Given the description of an element on the screen output the (x, y) to click on. 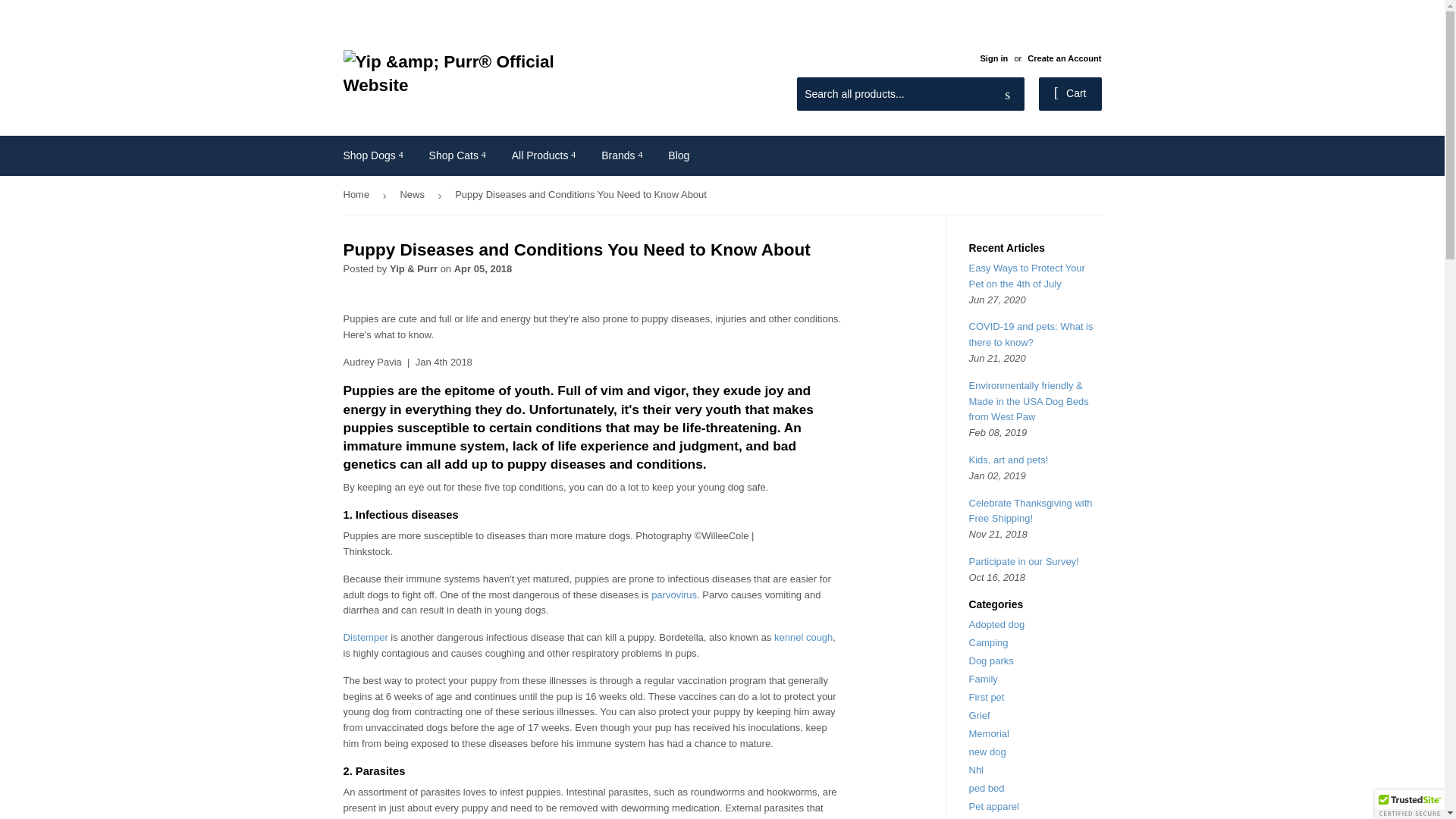
The Regional Guide to Fleas and Ticks on Dogs (547, 818)
Create an Account (1063, 58)
Show articles tagged Family (983, 678)
Show articles tagged Memorial (989, 733)
Show articles tagged Grief (979, 715)
Back to the frontpage (358, 195)
Cart (1070, 93)
Show articles tagged Camping (989, 642)
Show articles tagged First pet (986, 696)
Show articles tagged Dog parks (991, 660)
Sign in (993, 58)
Show articles tagged Adopted dog (997, 624)
